Given the description of an element on the screen output the (x, y) to click on. 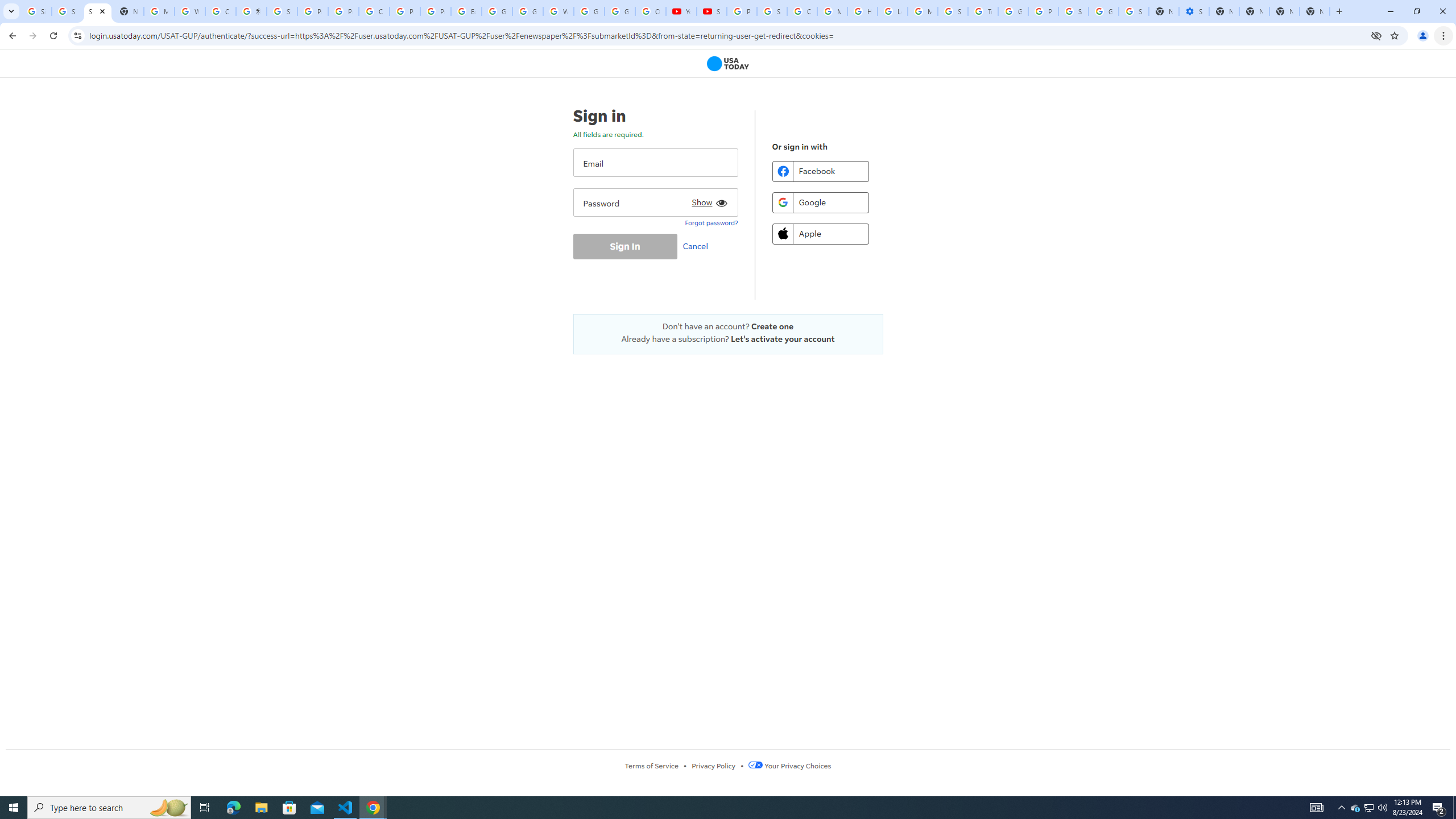
Search our Doodle Library Collection - Google Doodles (952, 11)
Sign In - USA TODAY (97, 11)
USA TODAY (727, 64)
Sign in - Google Accounts (771, 11)
Account Username (655, 162)
Google Account (619, 11)
